Given the description of an element on the screen output the (x, y) to click on. 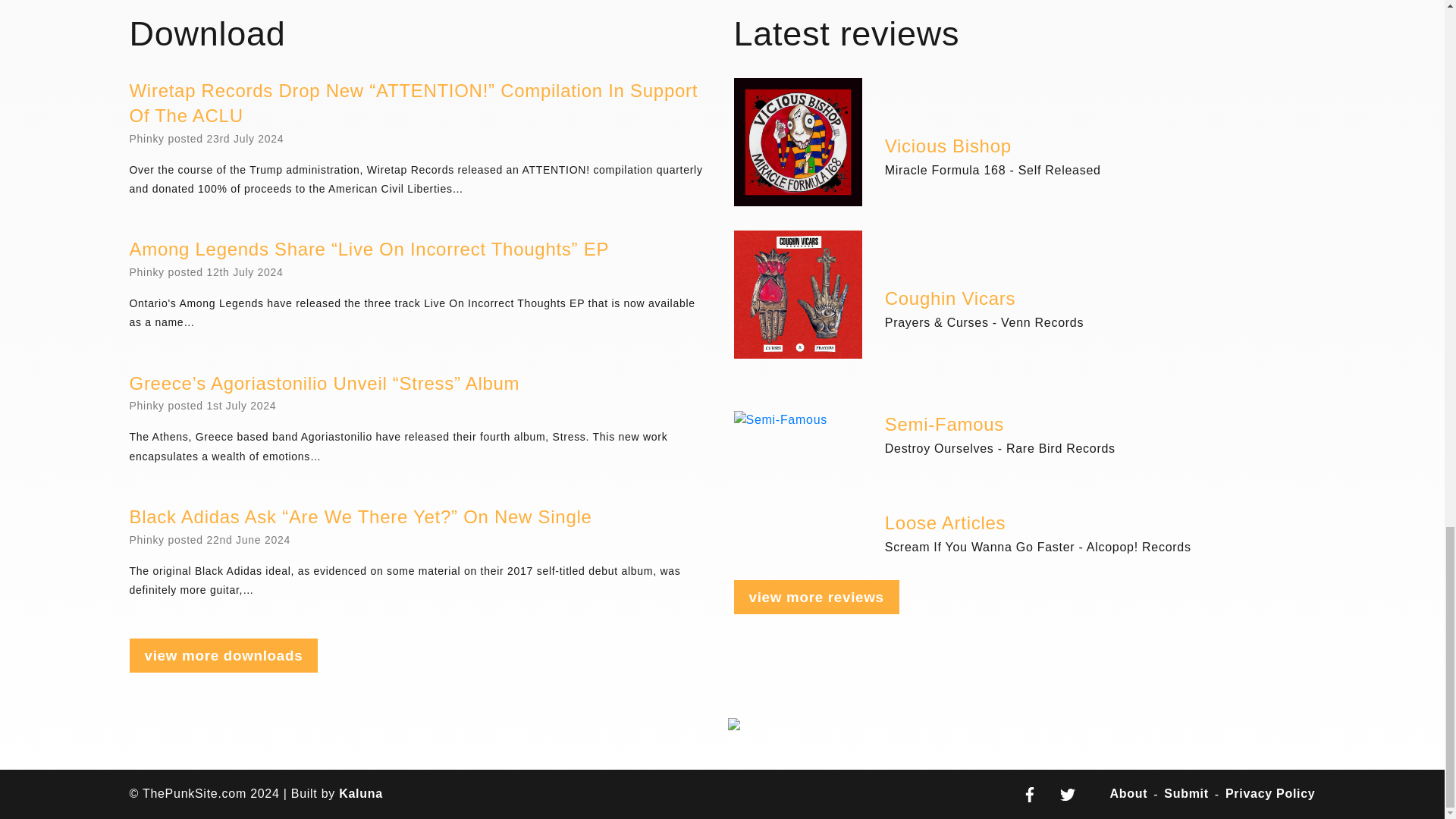
Coughin Vicars (949, 299)
view more downloads (223, 654)
Loose Articles (945, 523)
Vicious Bishop (948, 146)
Semi-Famous (944, 425)
